Given the description of an element on the screen output the (x, y) to click on. 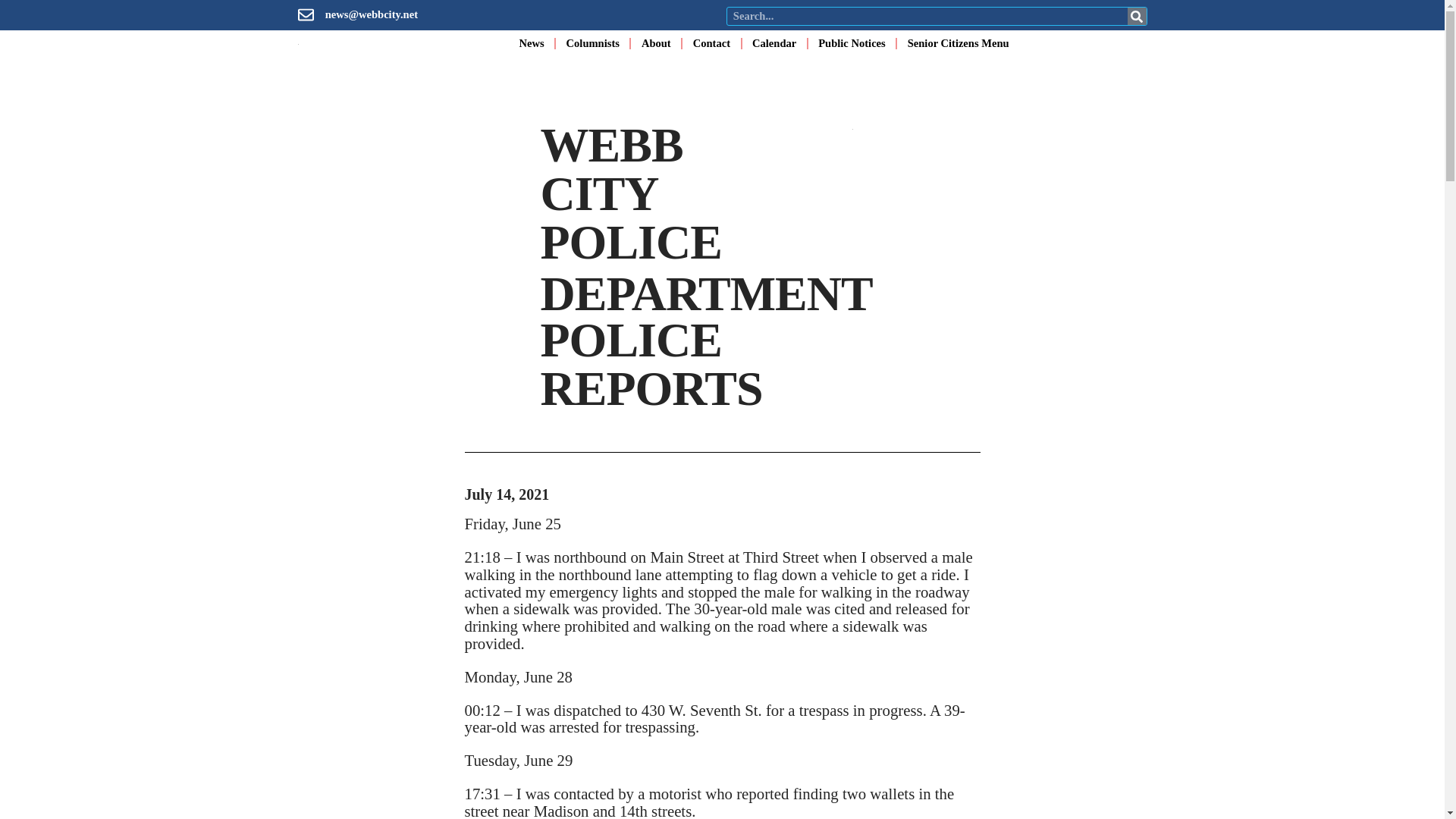
Calendar (774, 43)
Columnists (593, 43)
Contact (711, 43)
About (656, 43)
News (530, 43)
Senior Citizens Menu (958, 43)
Public Notices (851, 43)
